Given the description of an element on the screen output the (x, y) to click on. 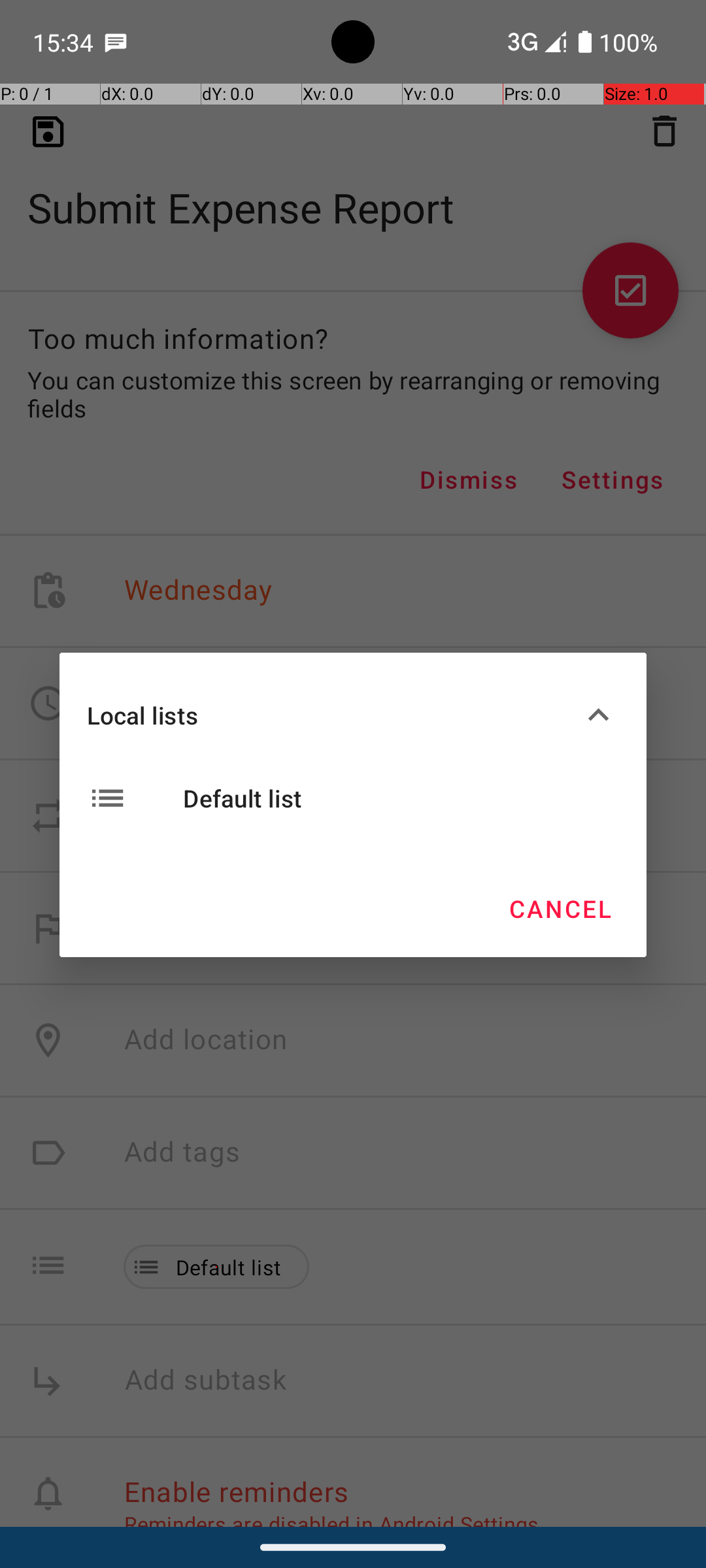
Local lists Element type: android.widget.TextView (331, 715)
